Given the description of an element on the screen output the (x, y) to click on. 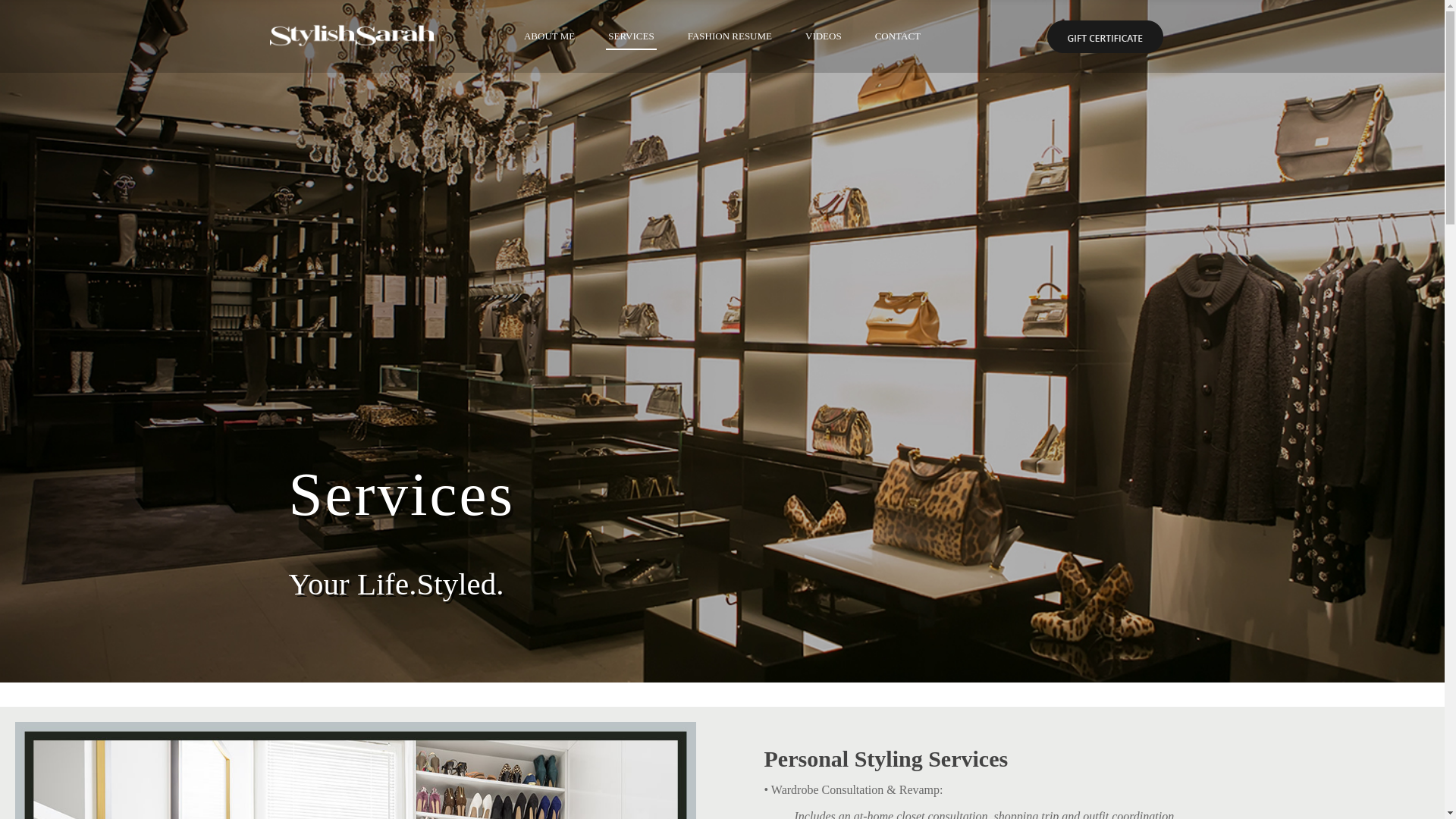
CONTACT (898, 36)
ABOUT ME (548, 36)
SERVICES (630, 36)
VIDEOS (824, 36)
FASHION RESUME (730, 36)
